Given the description of an element on the screen output the (x, y) to click on. 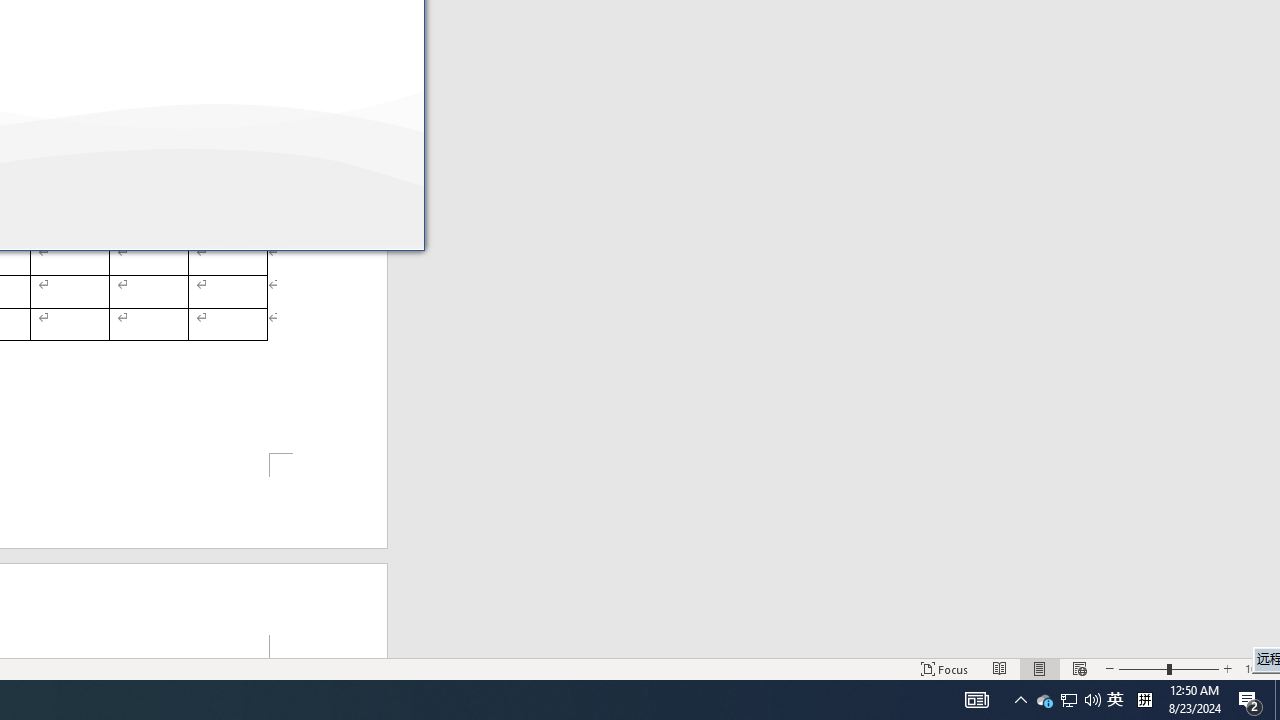
Action Center, 2 new notifications (1250, 699)
AutomationID: 4105 (1069, 699)
